Given the description of an element on the screen output the (x, y) to click on. 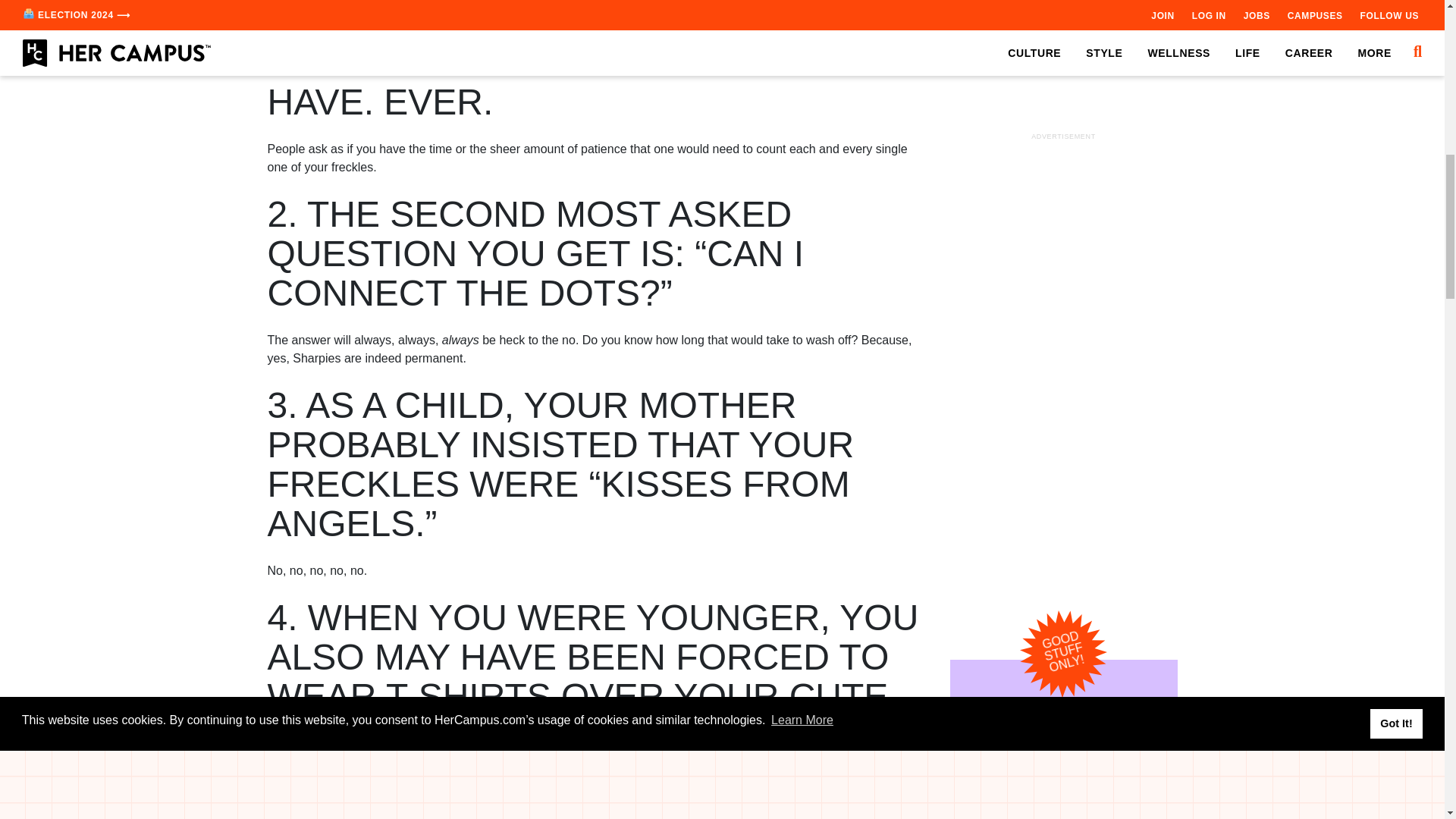
3rd party ad content (1062, 105)
